Given the description of an element on the screen output the (x, y) to click on. 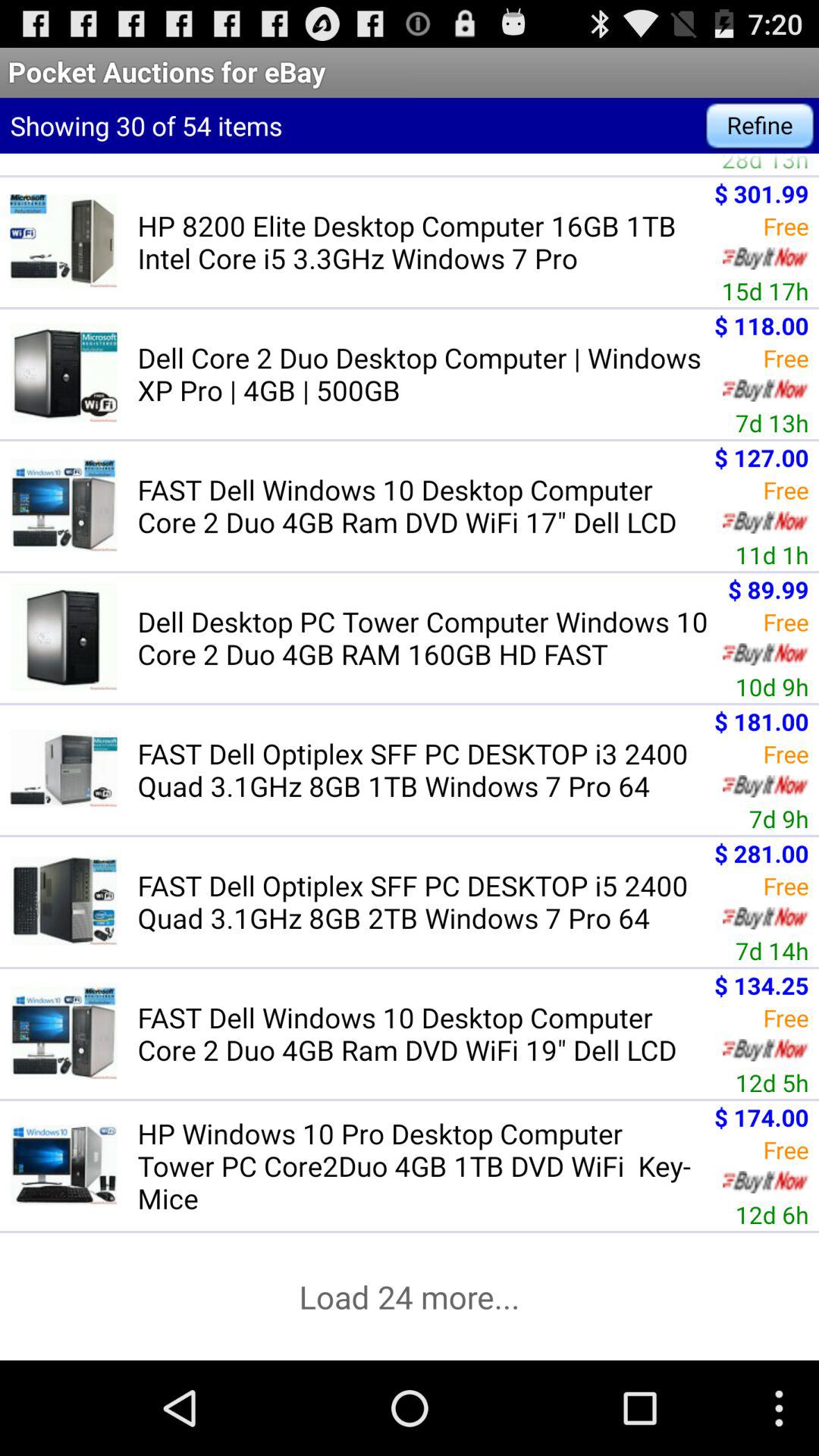
launch app above the $ 134.25 item (771, 950)
